Given the description of an element on the screen output the (x, y) to click on. 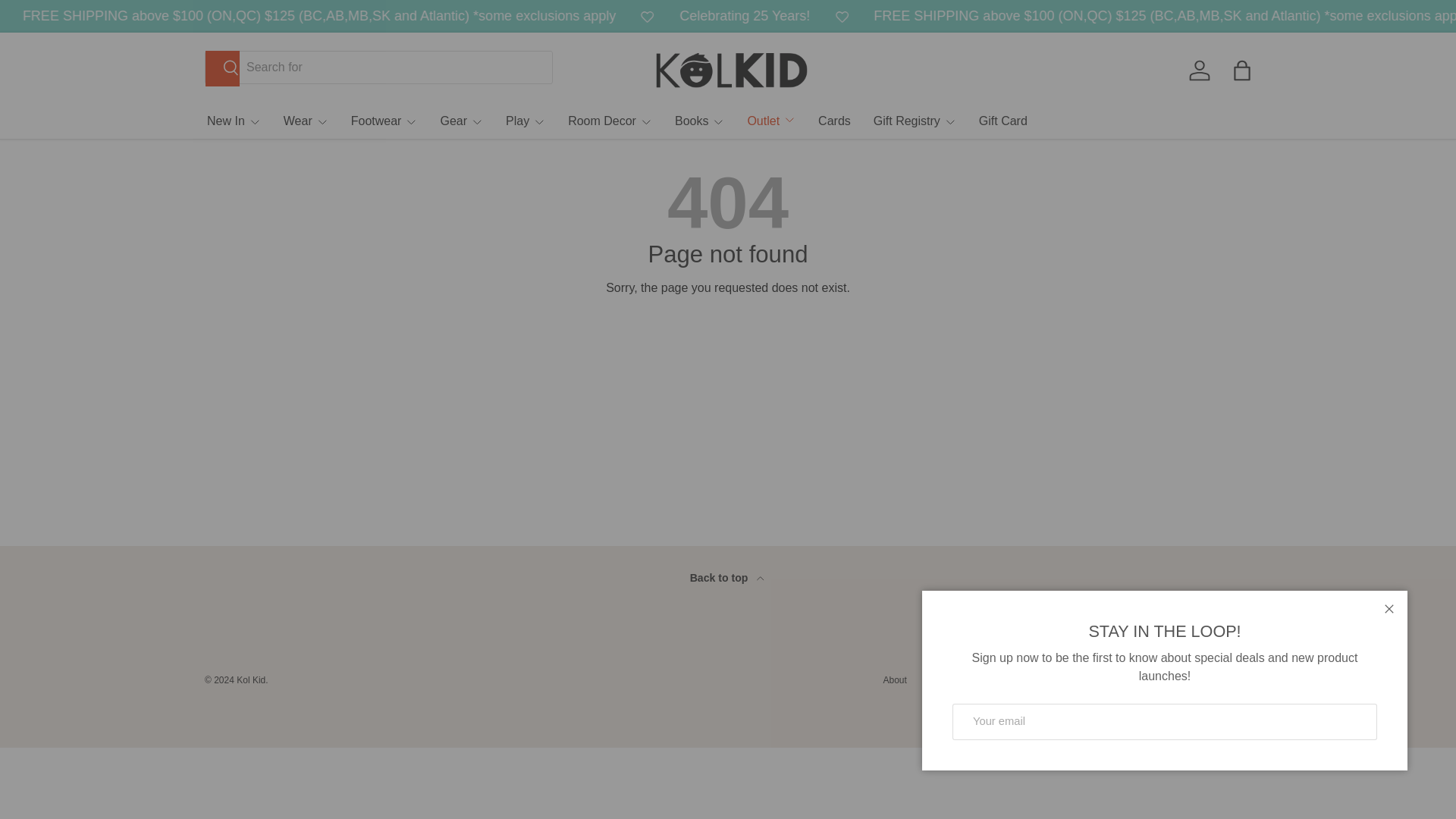
Skip to content (64, 21)
Celebrating 25 Years! (834, 15)
Celebrating 25 Years! (33, 15)
Search (222, 68)
Bag (1242, 70)
Wear (306, 120)
New In (233, 120)
Log in (1198, 70)
